Given the description of an element on the screen output the (x, y) to click on. 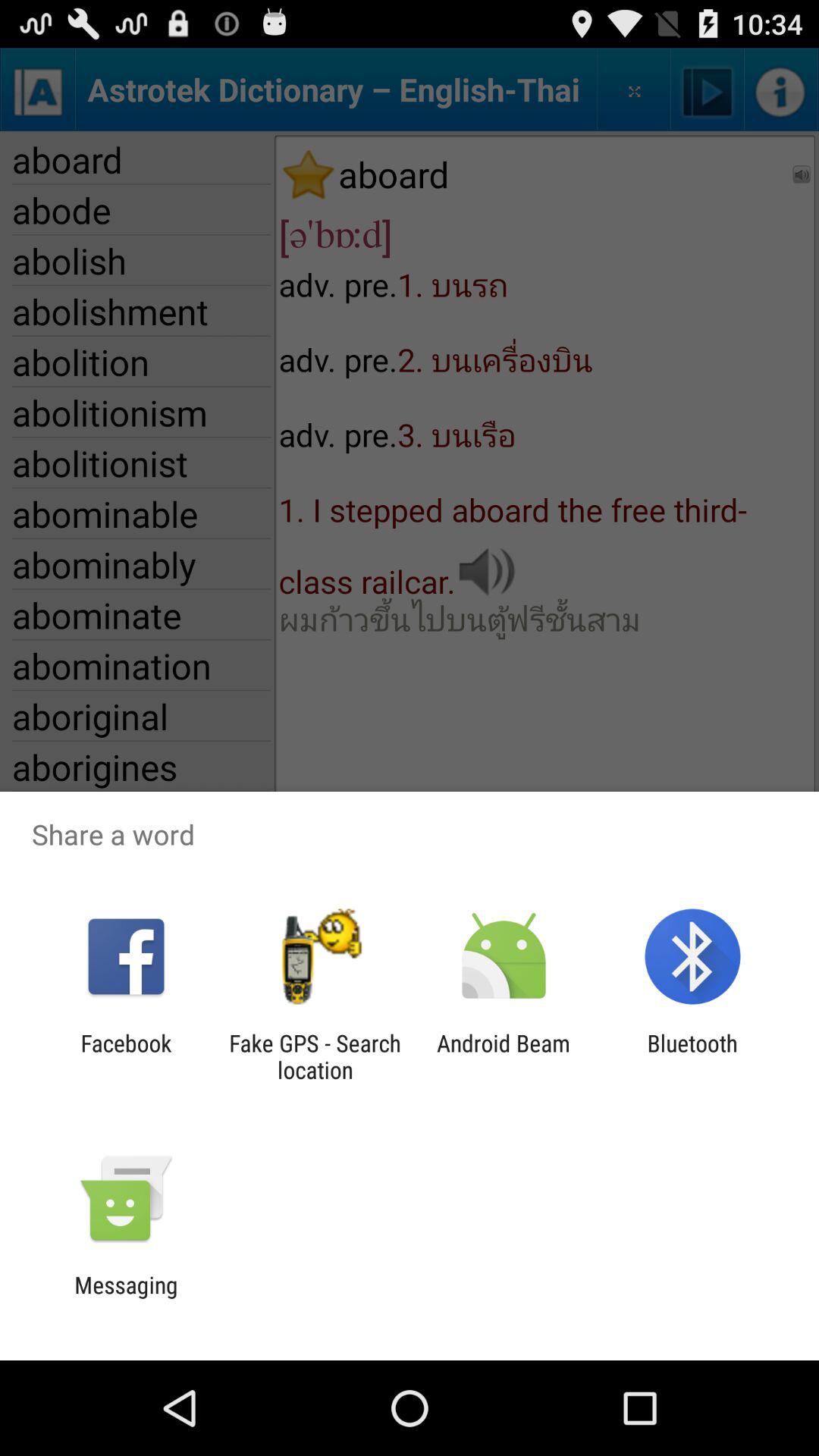
jump to the facebook (125, 1056)
